Given the description of an element on the screen output the (x, y) to click on. 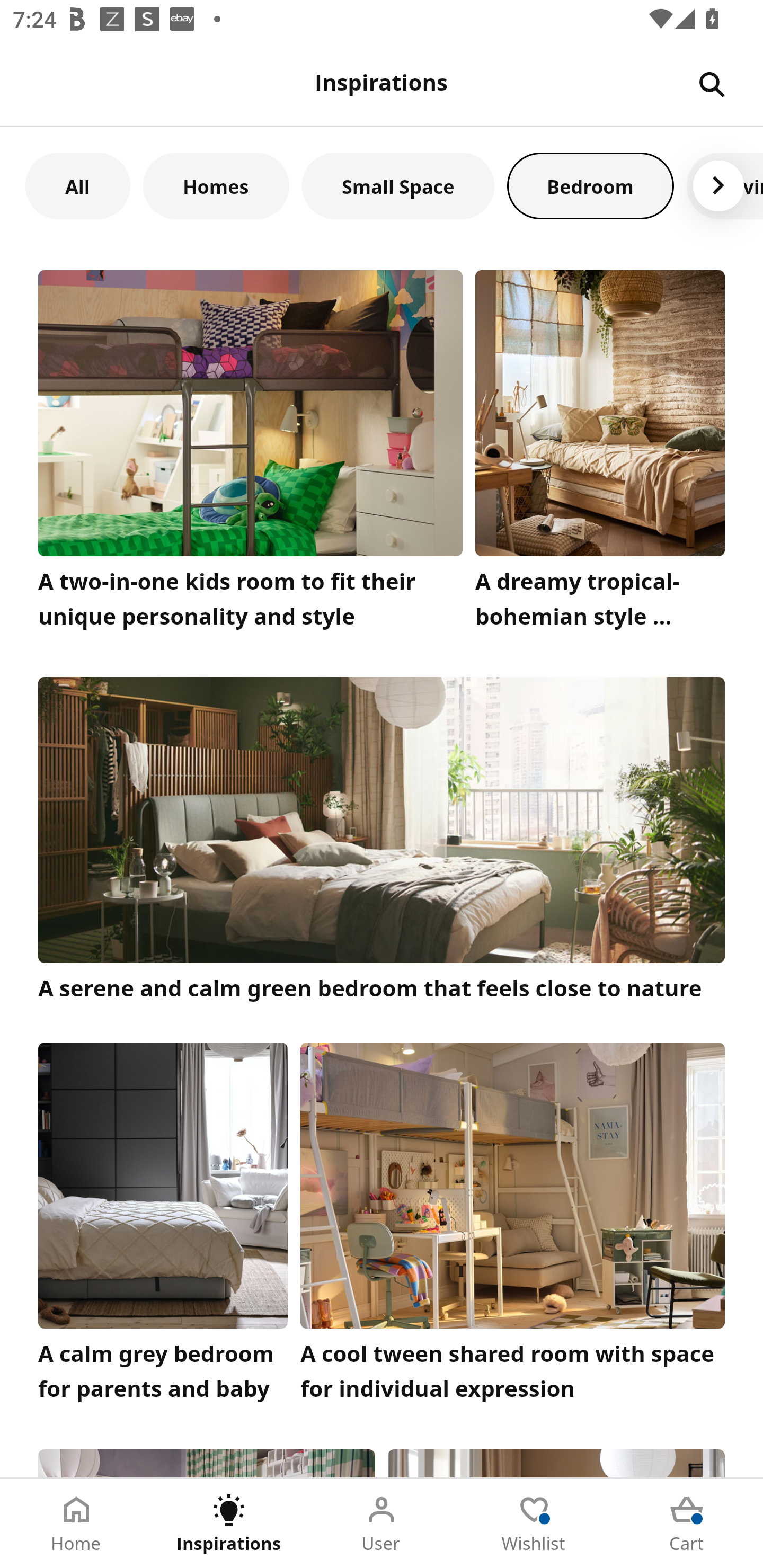
All (77, 185)
Homes (216, 185)
Small Space (398, 185)
Bedroom (590, 185)
A calm grey bedroom for parents and baby (162, 1226)
Home
Tab 1 of 5 (76, 1522)
Inspirations
Tab 2 of 5 (228, 1522)
User
Tab 3 of 5 (381, 1522)
Wishlist
Tab 4 of 5 (533, 1522)
Cart
Tab 5 of 5 (686, 1522)
